Given the description of an element on the screen output the (x, y) to click on. 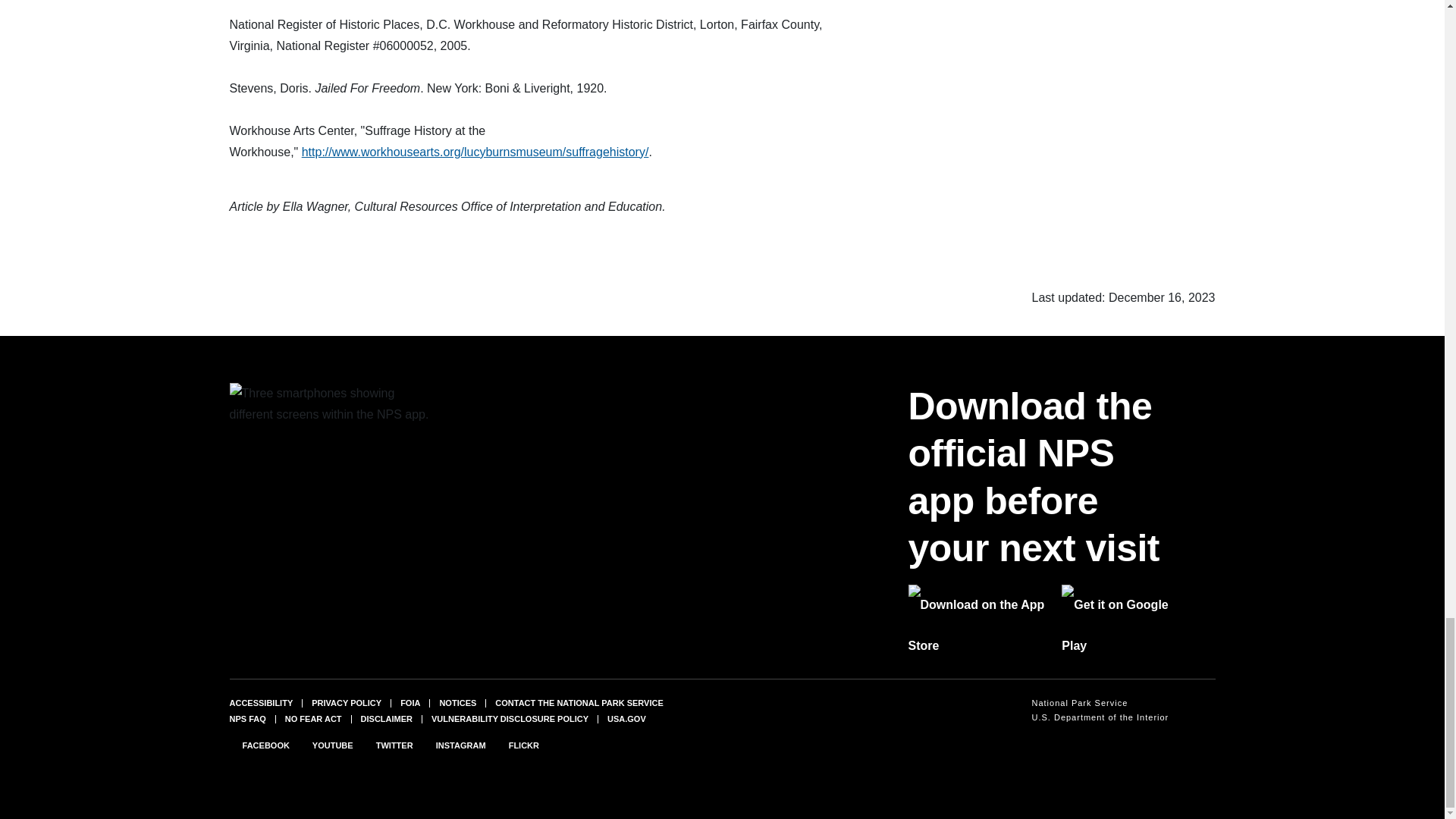
U.S. Department of the Interior (1099, 717)
National Park Service (1099, 703)
National Park Service frequently asked questions (246, 718)
